Given the description of an element on the screen output the (x, y) to click on. 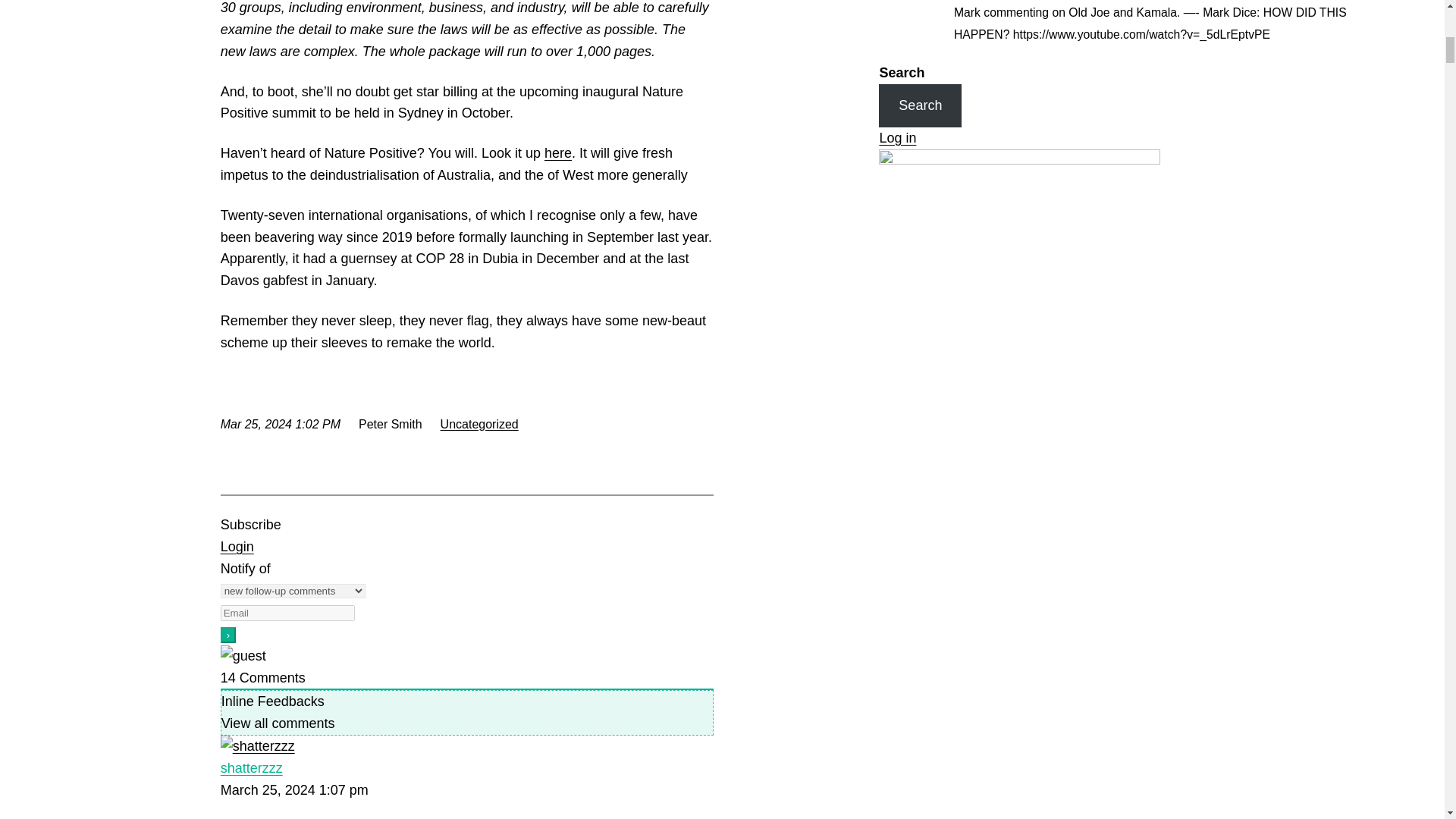
shatterzzz (251, 767)
Login (237, 546)
Uncategorized (479, 422)
here (558, 152)
